Given the description of an element on the screen output the (x, y) to click on. 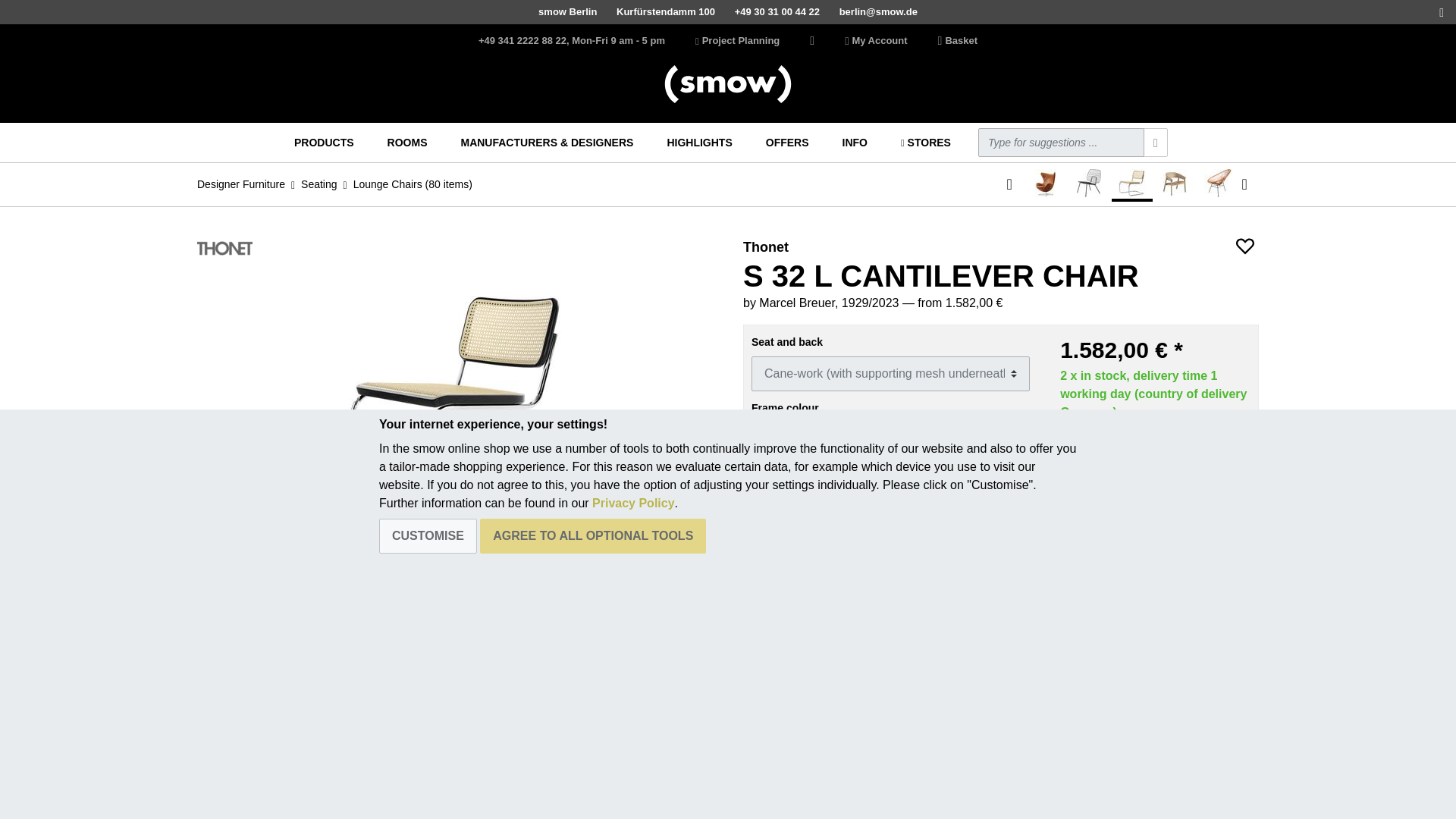
ROOMS (407, 142)
My Account (875, 40)
STORES (925, 142)
Privacy Policy (633, 502)
Back to homepage - smow online shop (727, 84)
PRODUCTS (323, 142)
HIGHLIGHTS (699, 142)
INFO (854, 142)
CUSTOMISE (427, 535)
Basket (956, 40)
